Given the description of an element on the screen output the (x, y) to click on. 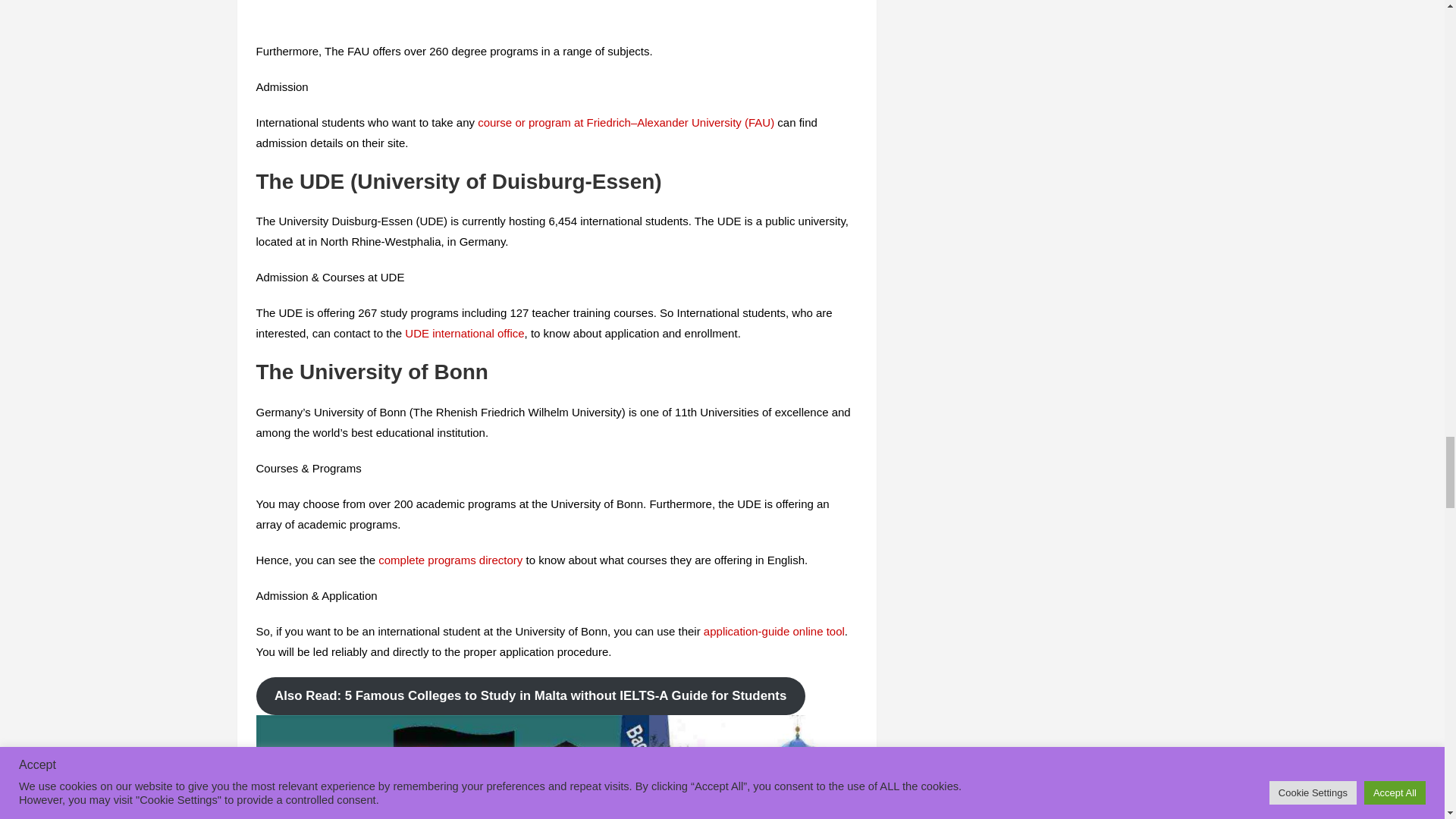
complete programs directory (450, 559)
UDE international office (464, 332)
application-guide online tool (773, 631)
